Given the description of an element on the screen output the (x, y) to click on. 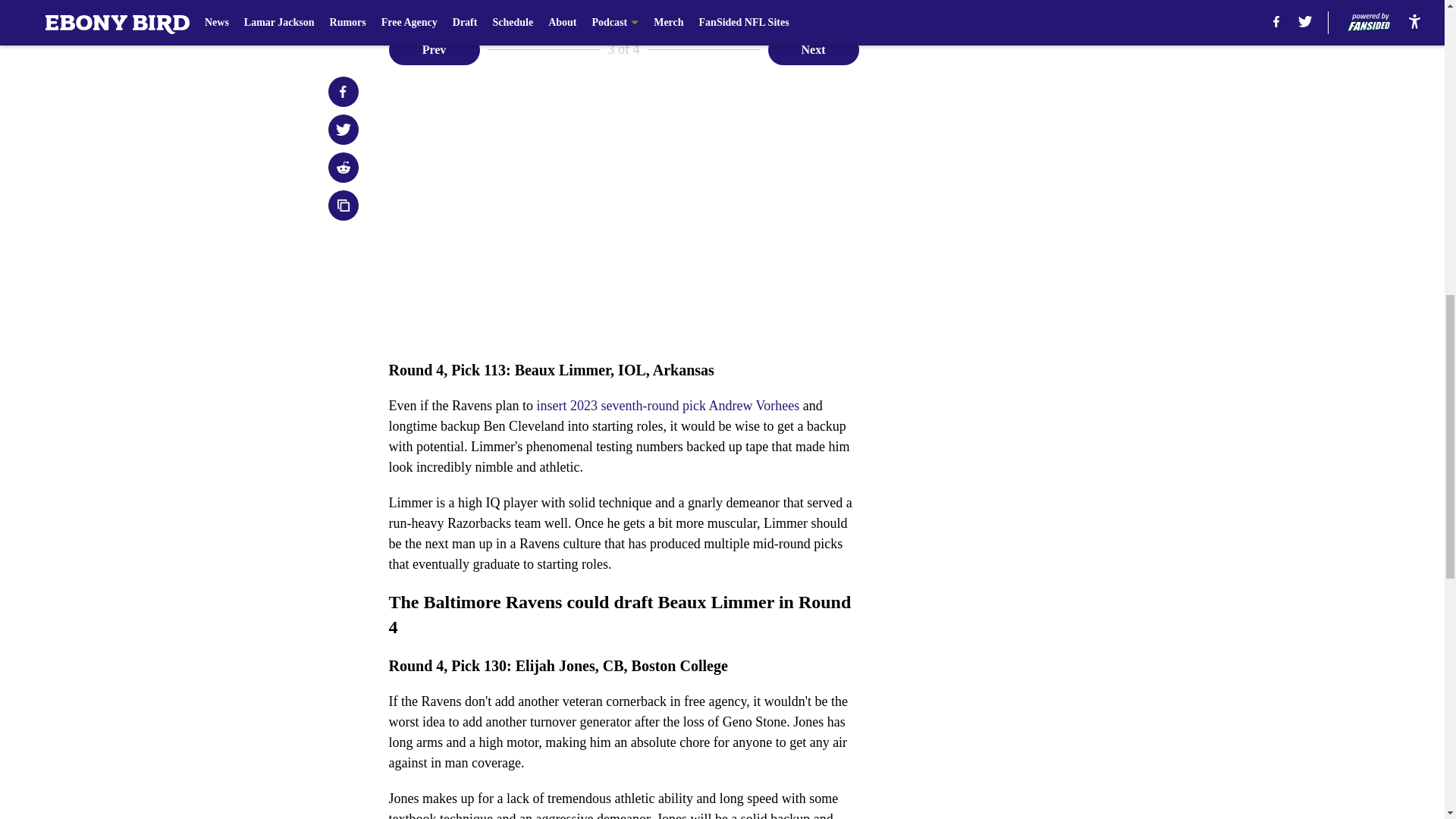
insert 2023 seventh-round pick Andrew Vorhees (667, 405)
Prev (433, 50)
Next (813, 50)
